Given the description of an element on the screen output the (x, y) to click on. 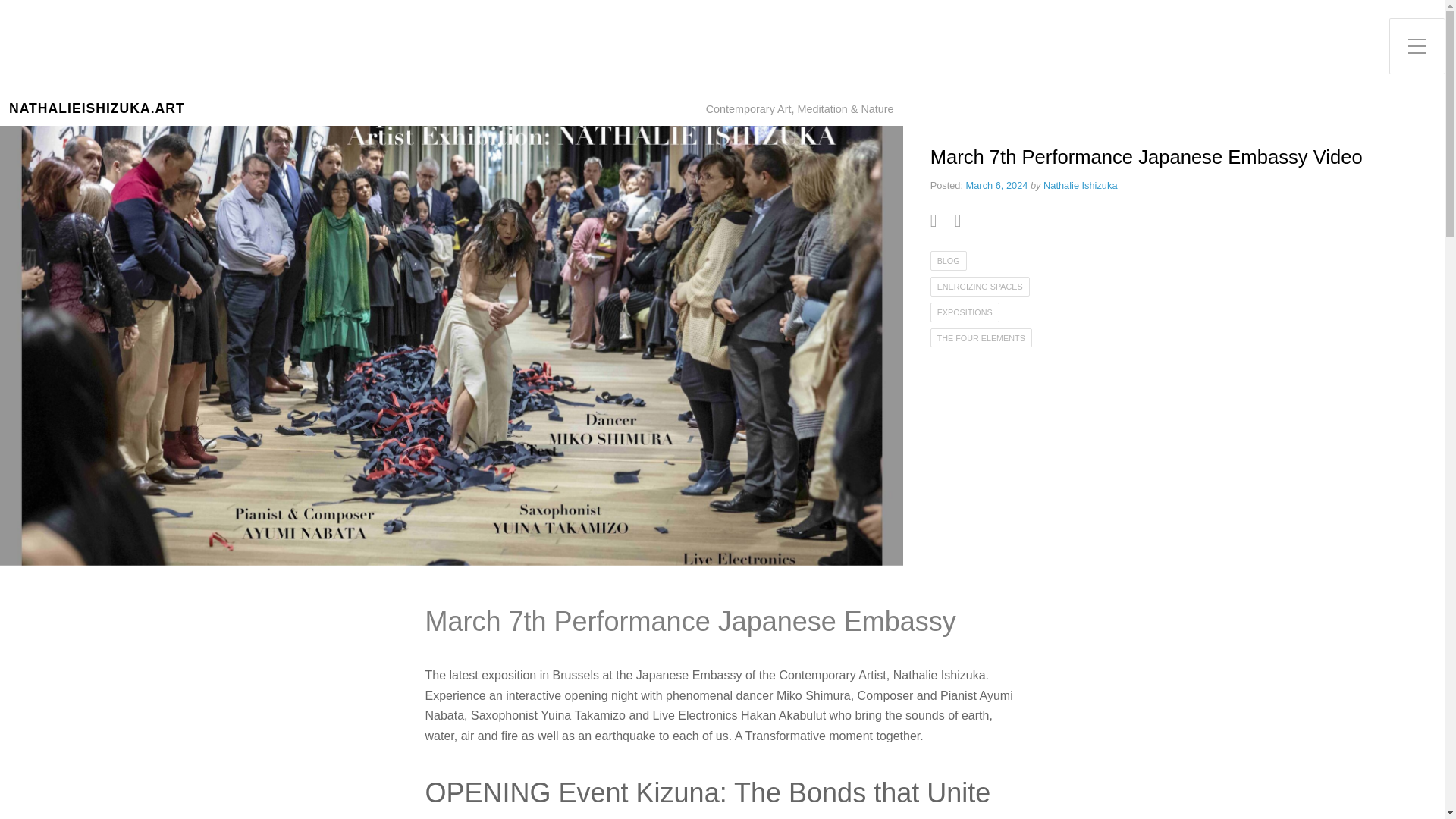
Nathalie Ishizuka (1079, 184)
8:15 am (996, 184)
Posts by Nathalie Ishizuka (1079, 184)
March 6, 2024 (996, 184)
EXPOSITIONS (964, 312)
THE FOUR ELEMENTS (981, 338)
BLOG (948, 260)
NATHALIEISHIZUKA.ART (96, 108)
ENERGIZING SPACES (979, 286)
